Given the description of an element on the screen output the (x, y) to click on. 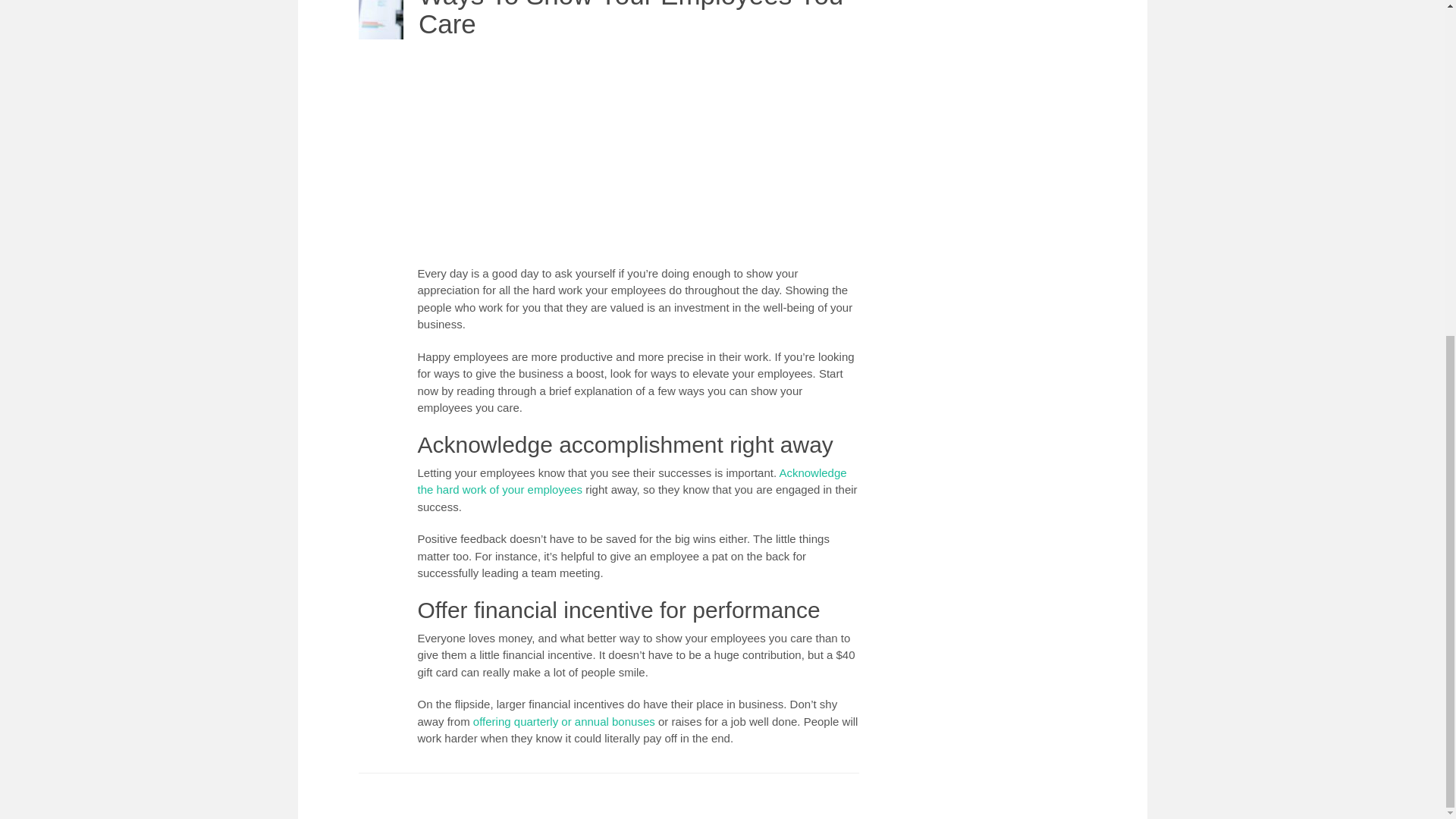
Advertisement (638, 156)
Acknowledge the hard work of your employees (630, 481)
offering quarterly or annual bonuses (564, 721)
